Given the description of an element on the screen output the (x, y) to click on. 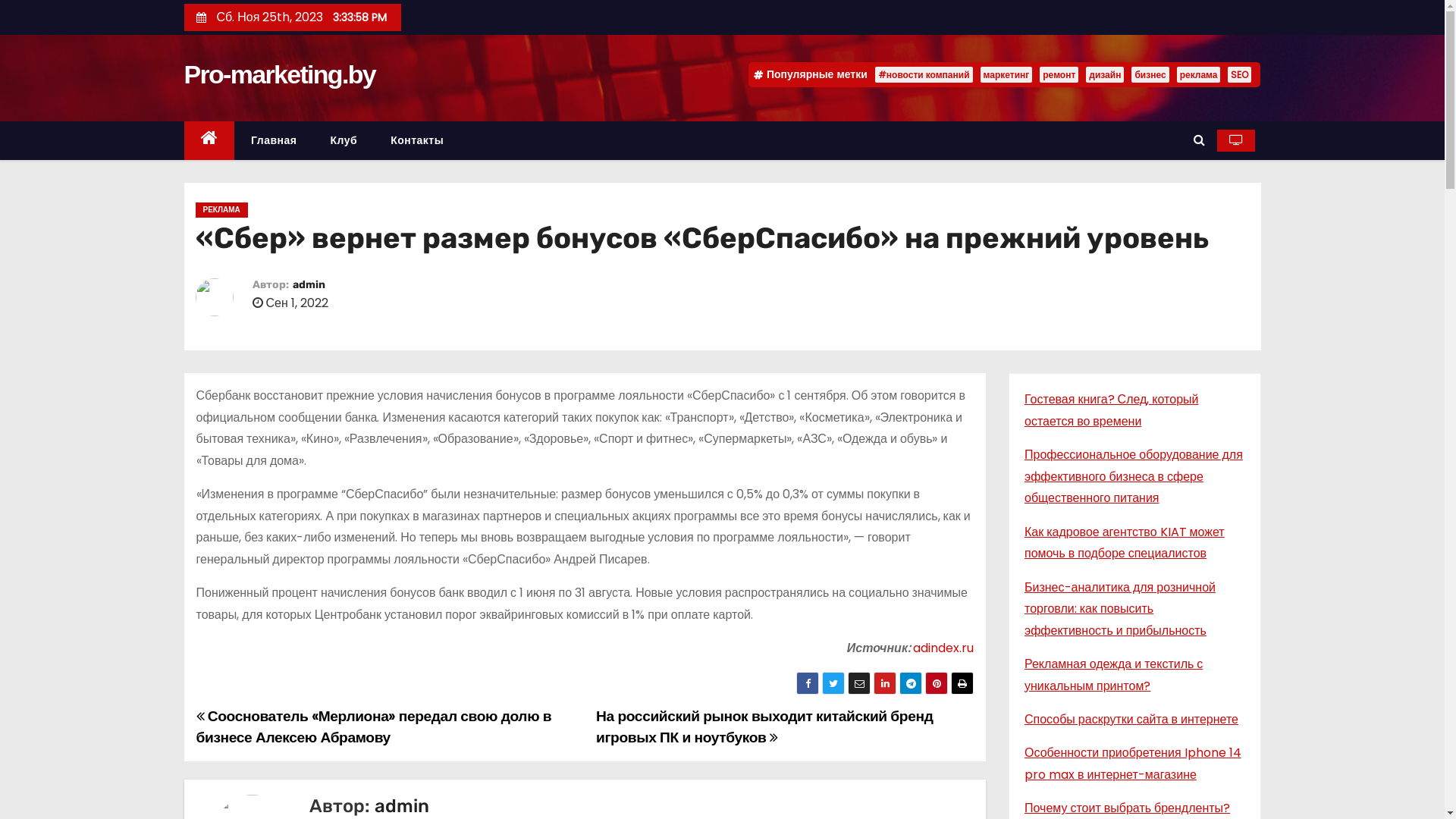
admin Element type: text (401, 805)
Home Element type: hover (208, 140)
SEO Element type: text (1239, 74)
adindex.ru Element type: text (943, 647)
Pro-marketing.by Element type: text (278, 73)
admin Element type: text (308, 284)
